Given the description of an element on the screen output the (x, y) to click on. 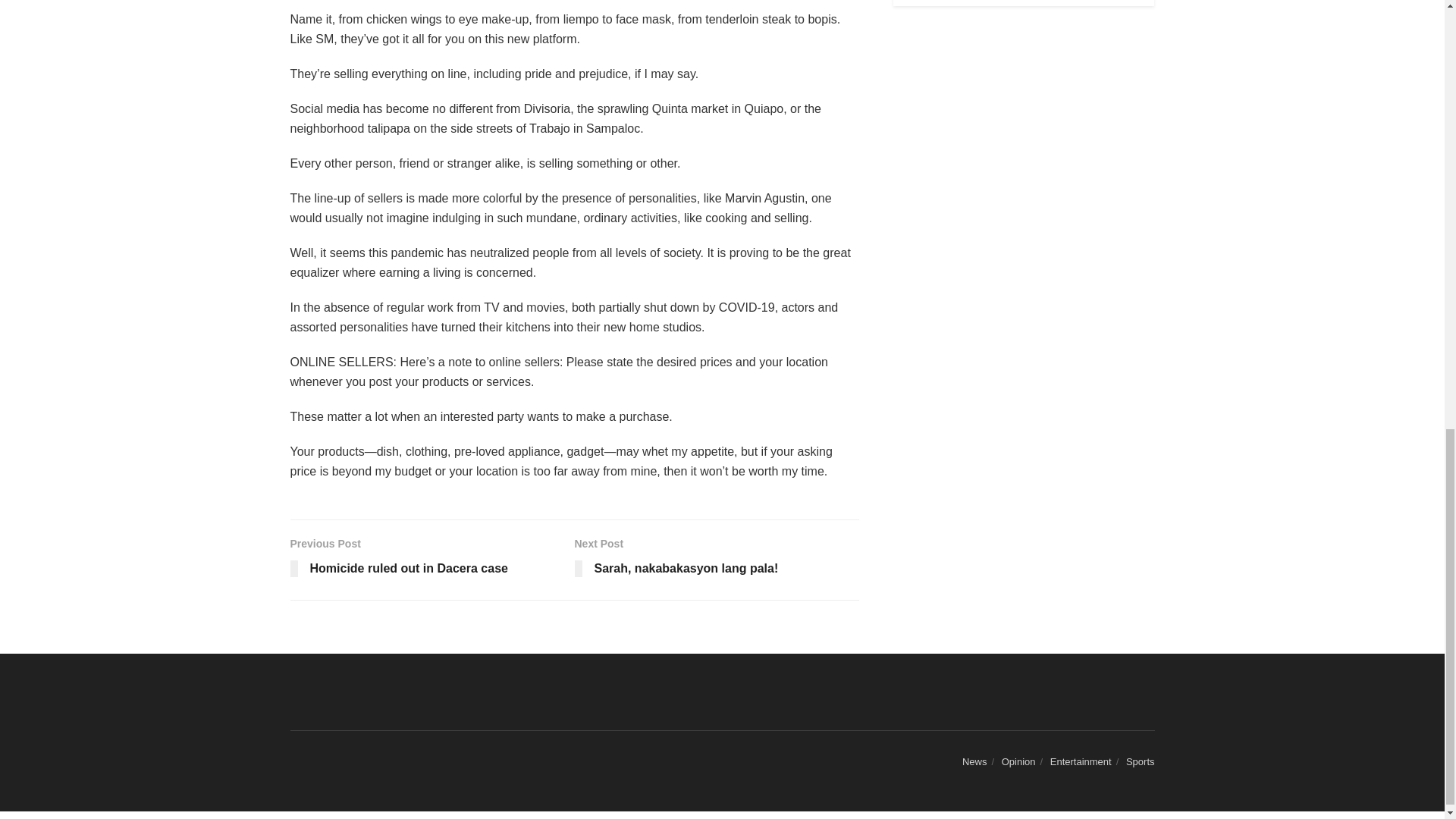
News (974, 761)
Opinion (717, 559)
Entertainment (1018, 761)
Sports (1080, 761)
